Given the description of an element on the screen output the (x, y) to click on. 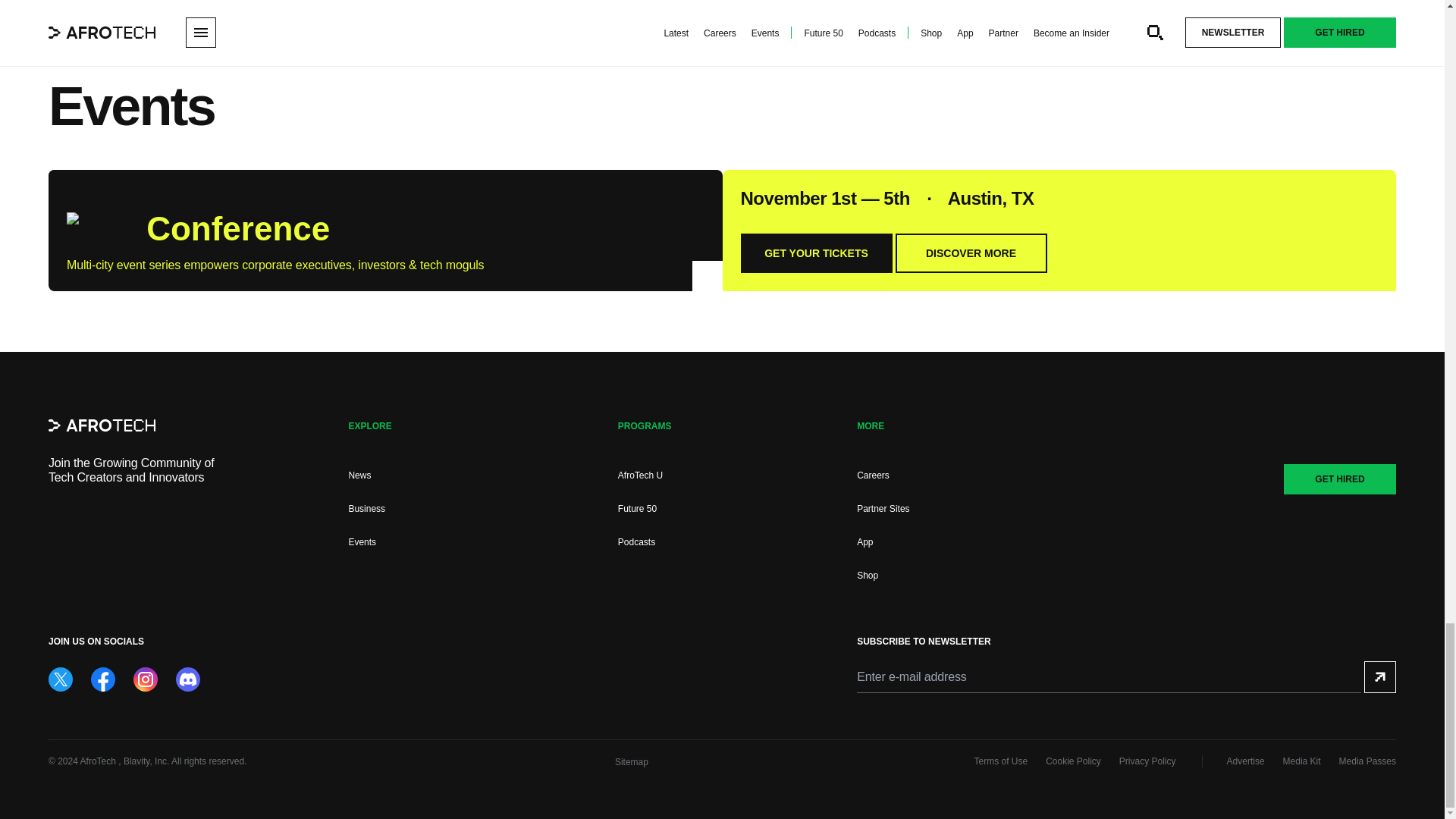
GET YOUR TICKETS (815, 252)
DISCOVER MORE (970, 252)
News (359, 475)
Business (366, 508)
conference (102, 225)
